Given the description of an element on the screen output the (x, y) to click on. 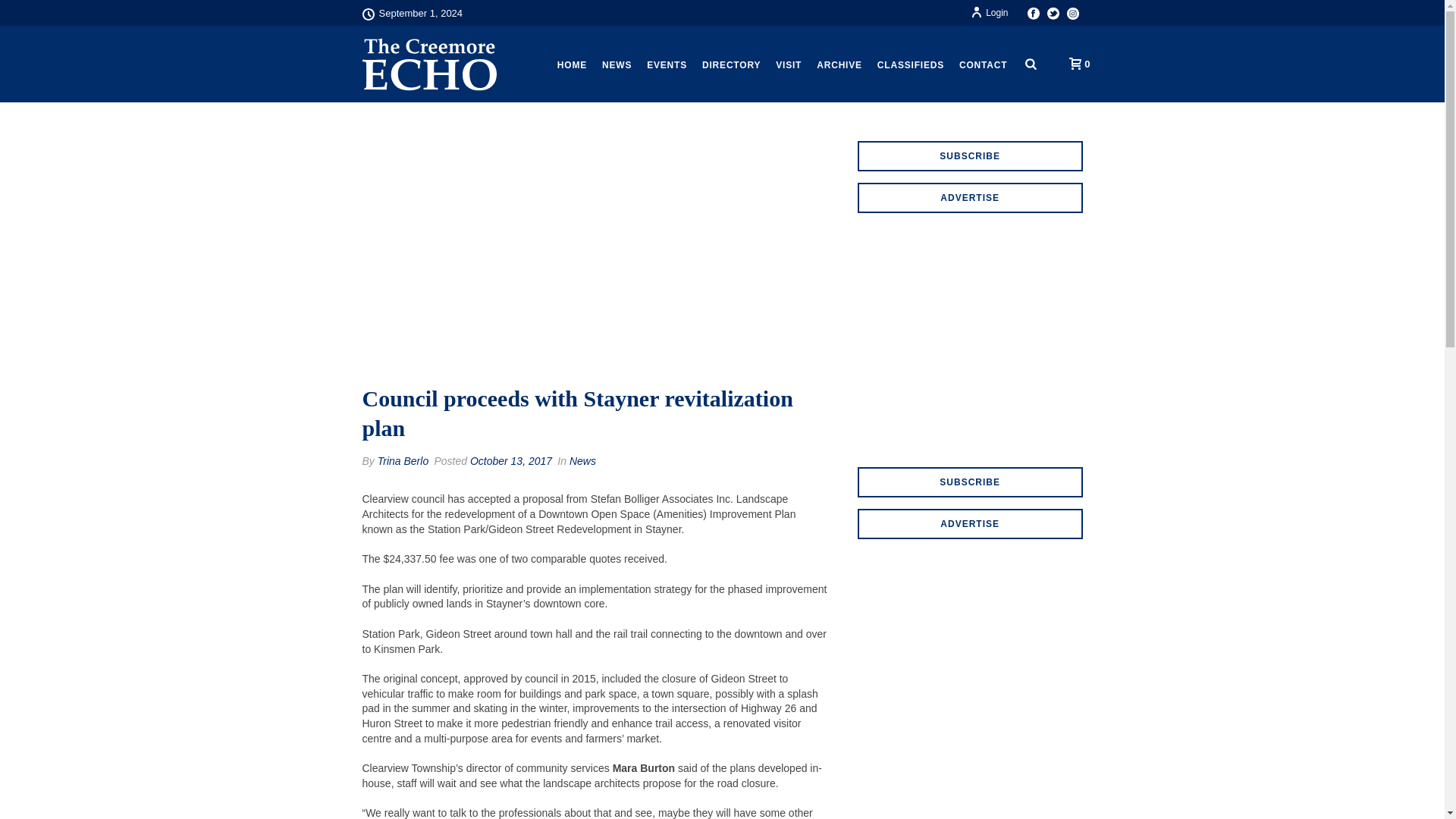
ADVERTISE (970, 523)
ARCHIVE (839, 65)
DIRECTORY (731, 65)
CONTACT (983, 65)
Posts by Trina Berlo (402, 460)
HOME (572, 65)
HOME (572, 65)
VISIT (788, 65)
ARCHIVE (839, 65)
CLASSIFIEDS (910, 65)
